Given the description of an element on the screen output the (x, y) to click on. 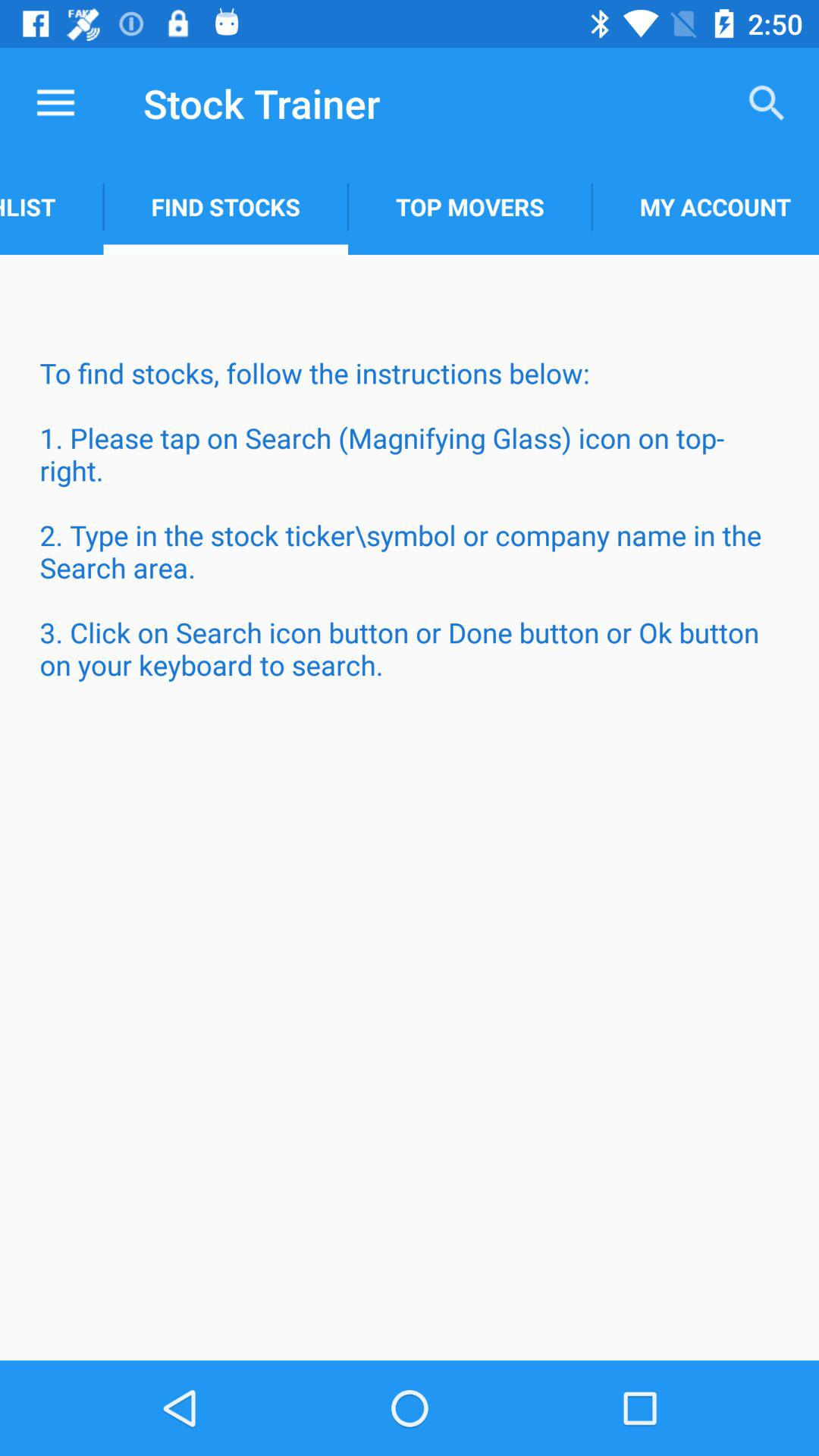
turn off the icon to the left of find stocks item (51, 206)
